Given the description of an element on the screen output the (x, y) to click on. 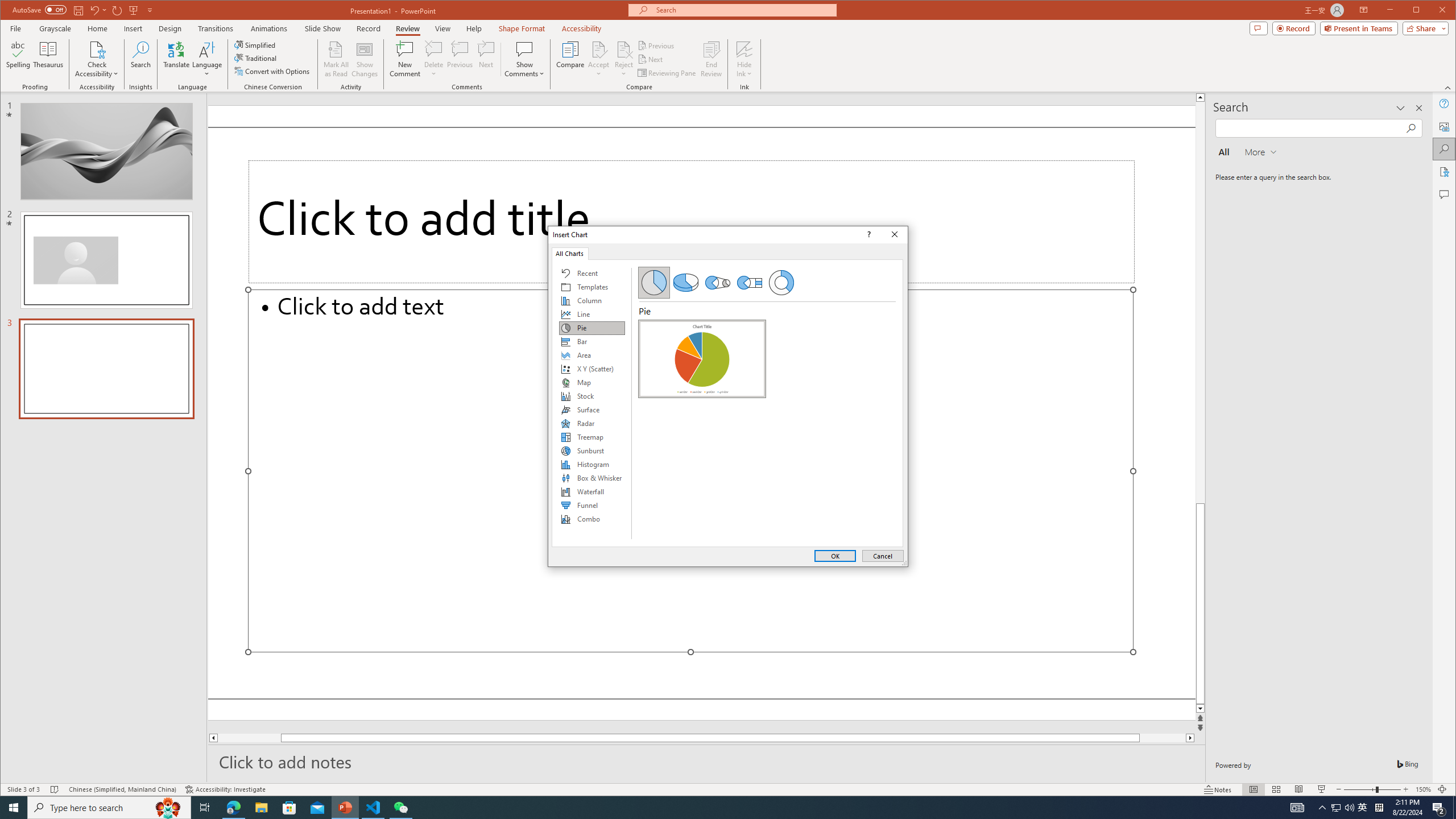
WeChat - 1 running window (400, 807)
Action Center, 2 new notifications (1439, 807)
Column (591, 300)
Thesaurus... (48, 59)
Radar (591, 423)
Convert with Options... (272, 70)
